Given the description of an element on the screen output the (x, y) to click on. 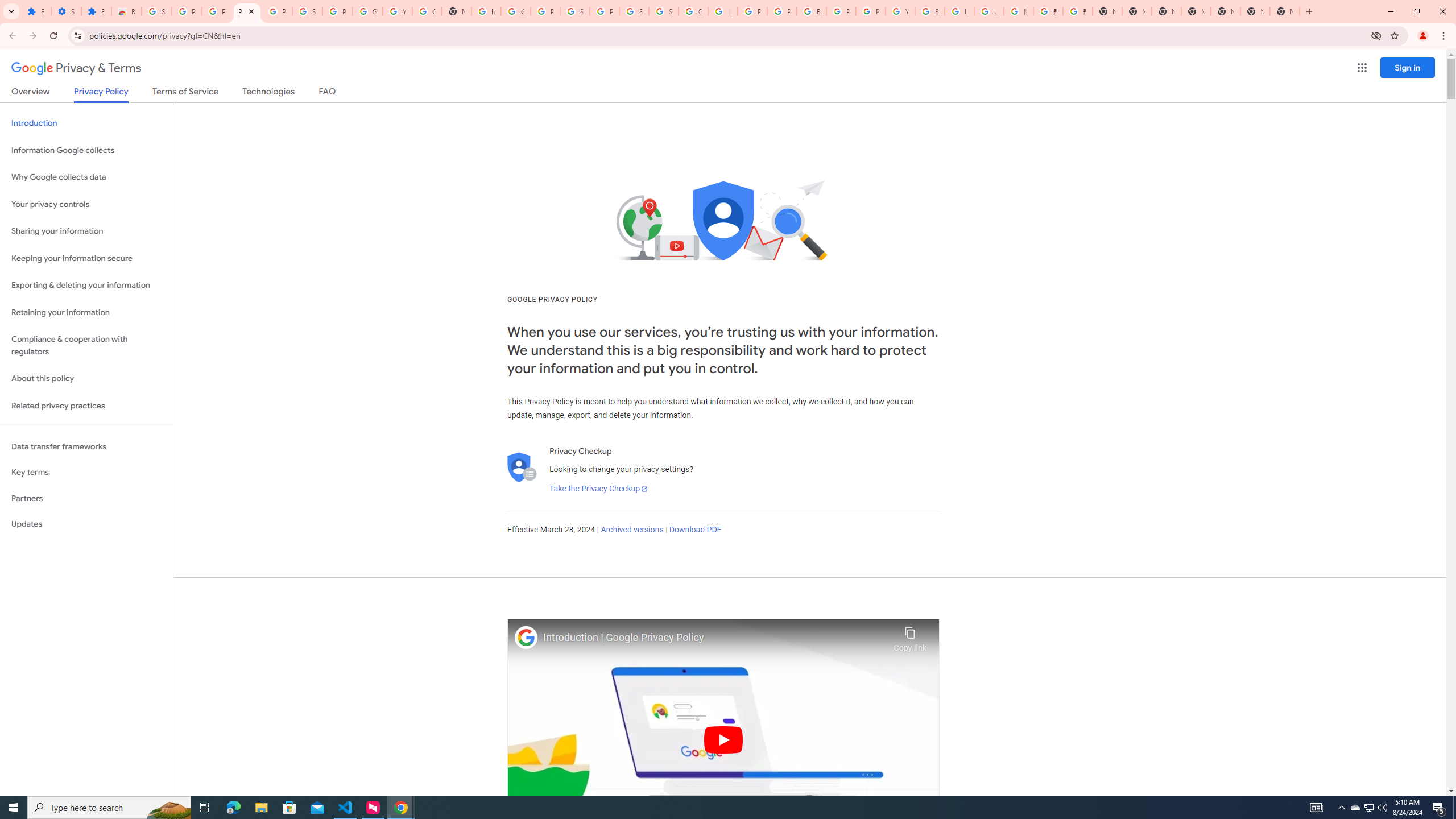
Extensions (95, 11)
Extensions (36, 11)
Introduction | Google Privacy Policy (715, 637)
